Given the description of an element on the screen output the (x, y) to click on. 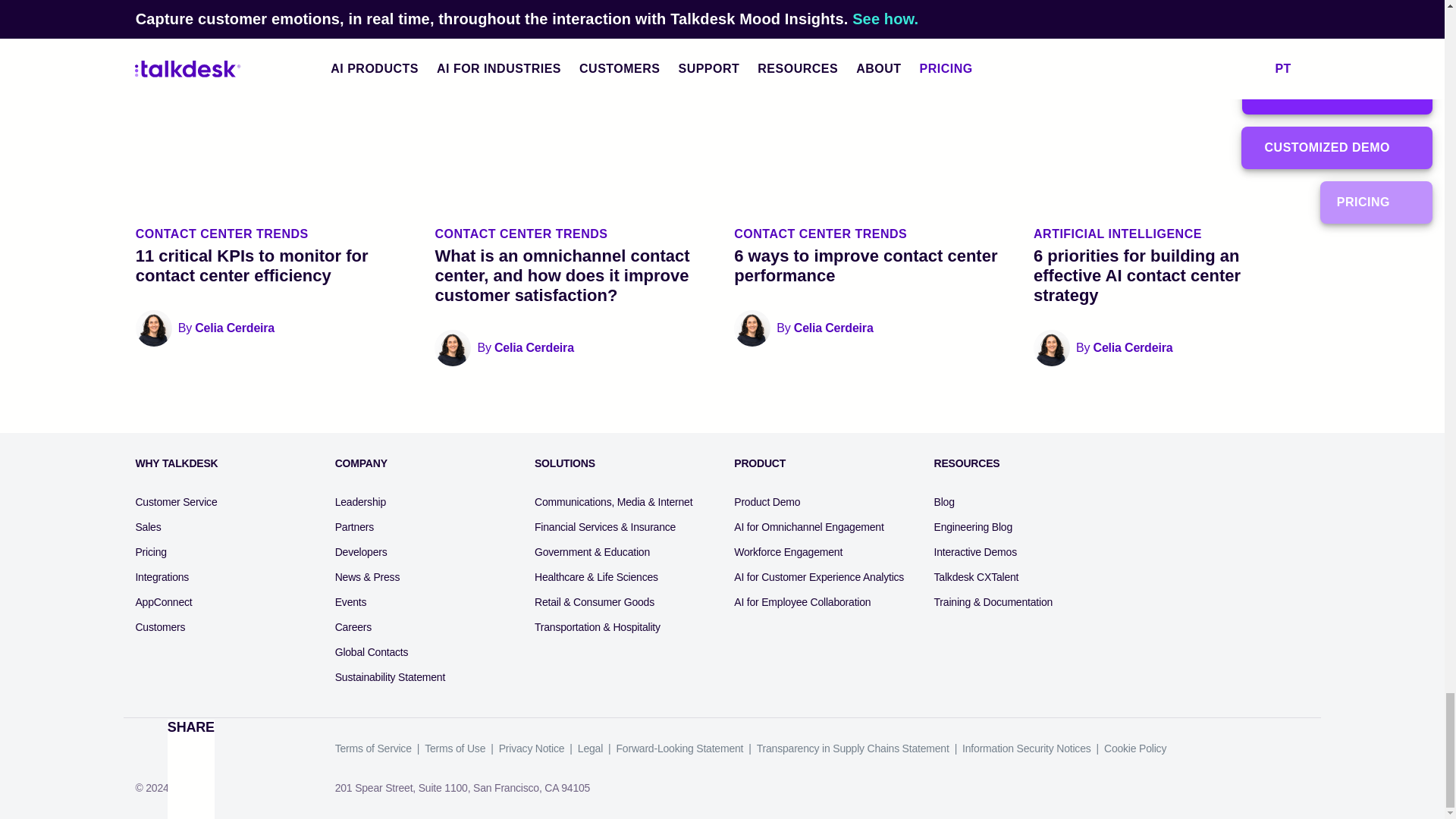
Contact Center Trends (571, 234)
Contact Center Trends (871, 234)
Contact Center Trends (272, 234)
Artificial Intelligence (1170, 234)
